Given the description of an element on the screen output the (x, y) to click on. 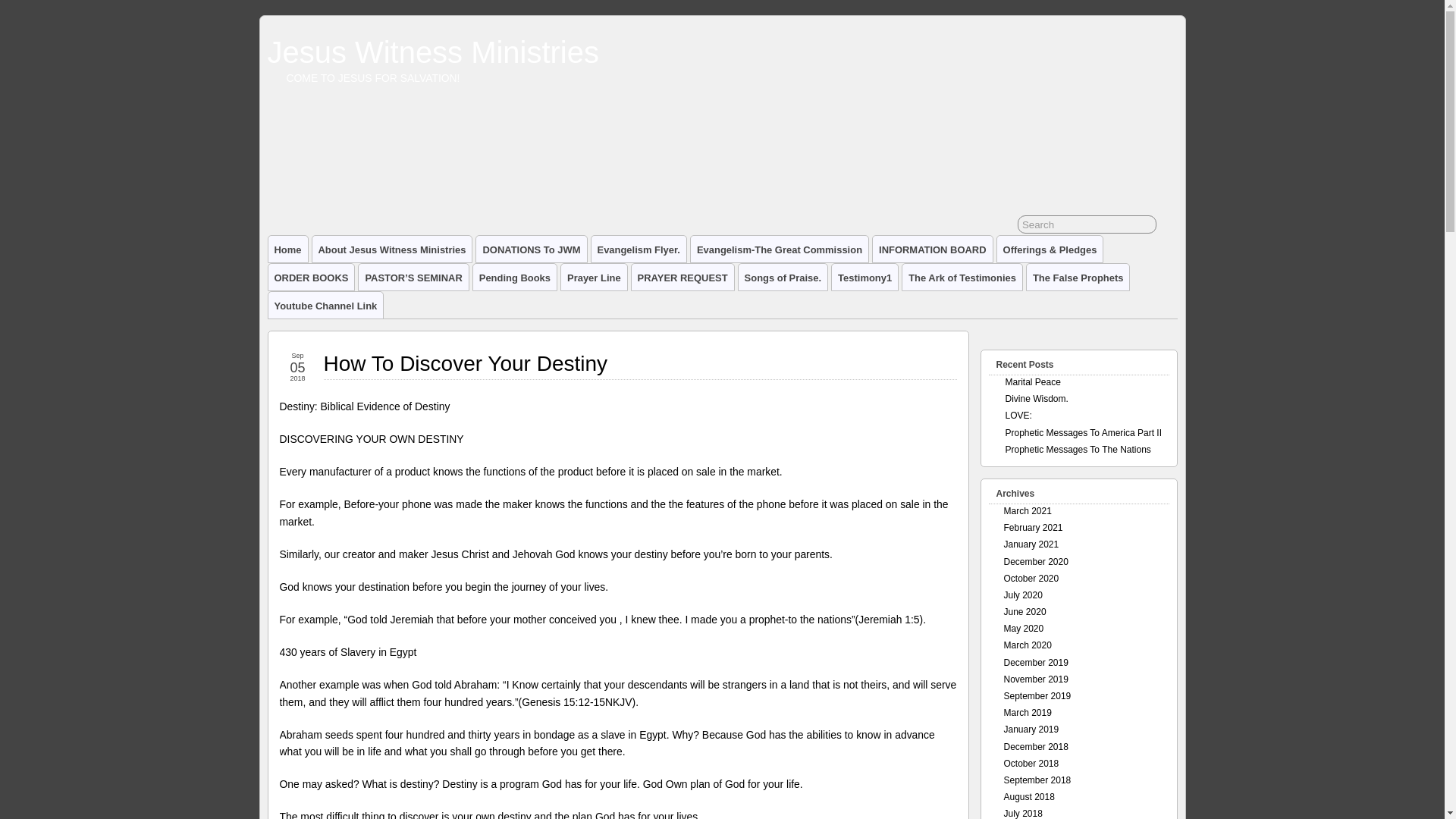
December 2019 (1036, 662)
The Ark of Testimonies (962, 276)
Home (287, 248)
Songs of Praise. (783, 276)
October 2020 (1031, 578)
Prayer Line (593, 276)
Prophetic Messages To America Part II (1083, 432)
About Jesus Witness Ministries (392, 248)
Evangelism-The Great Commission (778, 248)
How To Discover Your Destiny (465, 363)
February 2021 (1033, 527)
Search (1086, 224)
Search (1086, 224)
ORDER BOOKS (311, 276)
May 2020 (1023, 628)
